Given the description of an element on the screen output the (x, y) to click on. 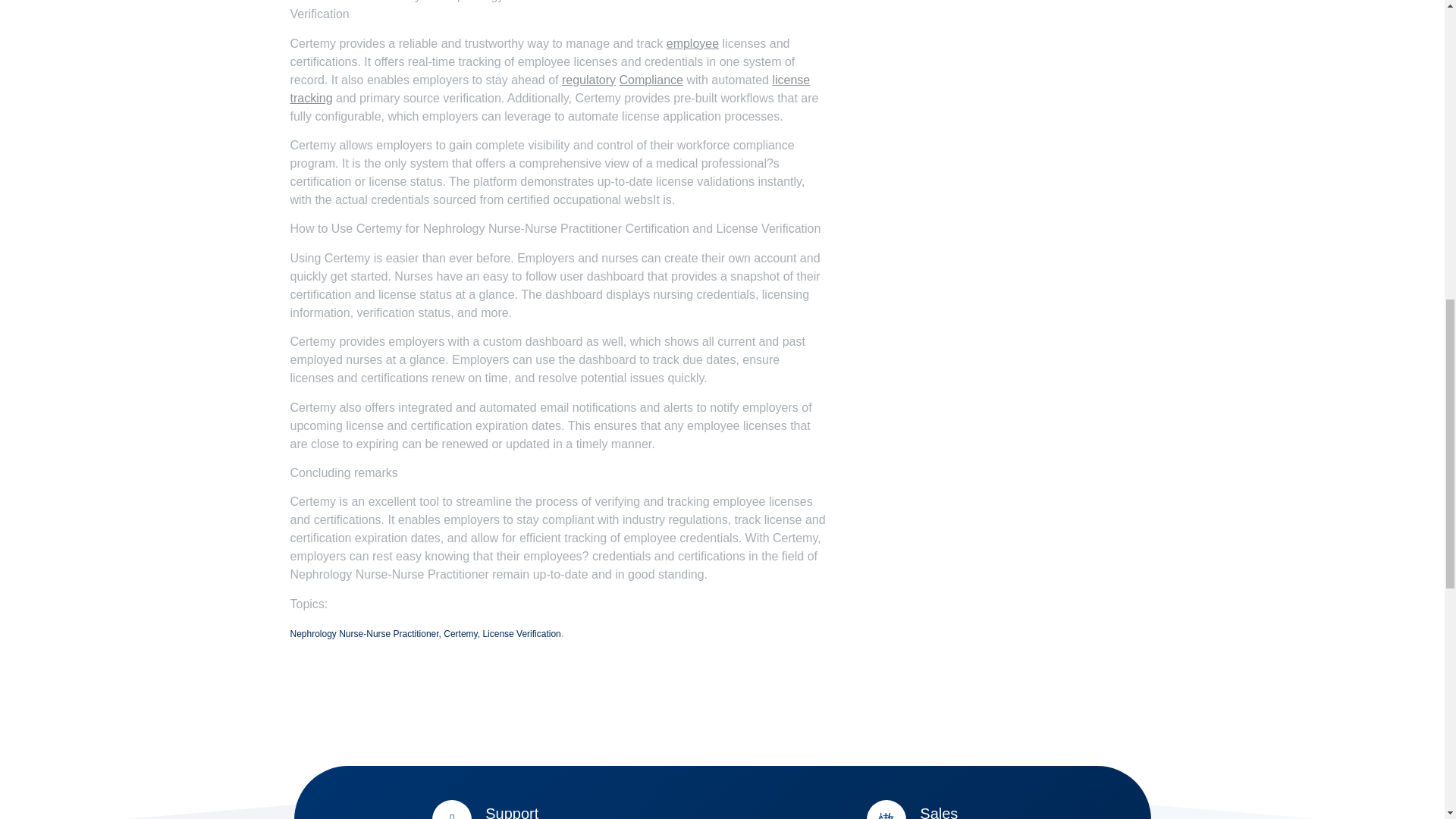
License Tracking (549, 88)
employee (692, 42)
Workforce (692, 42)
Regulatory (588, 79)
Compliance (651, 79)
regulatory (588, 79)
license tracking (549, 88)
